Given the description of an element on the screen output the (x, y) to click on. 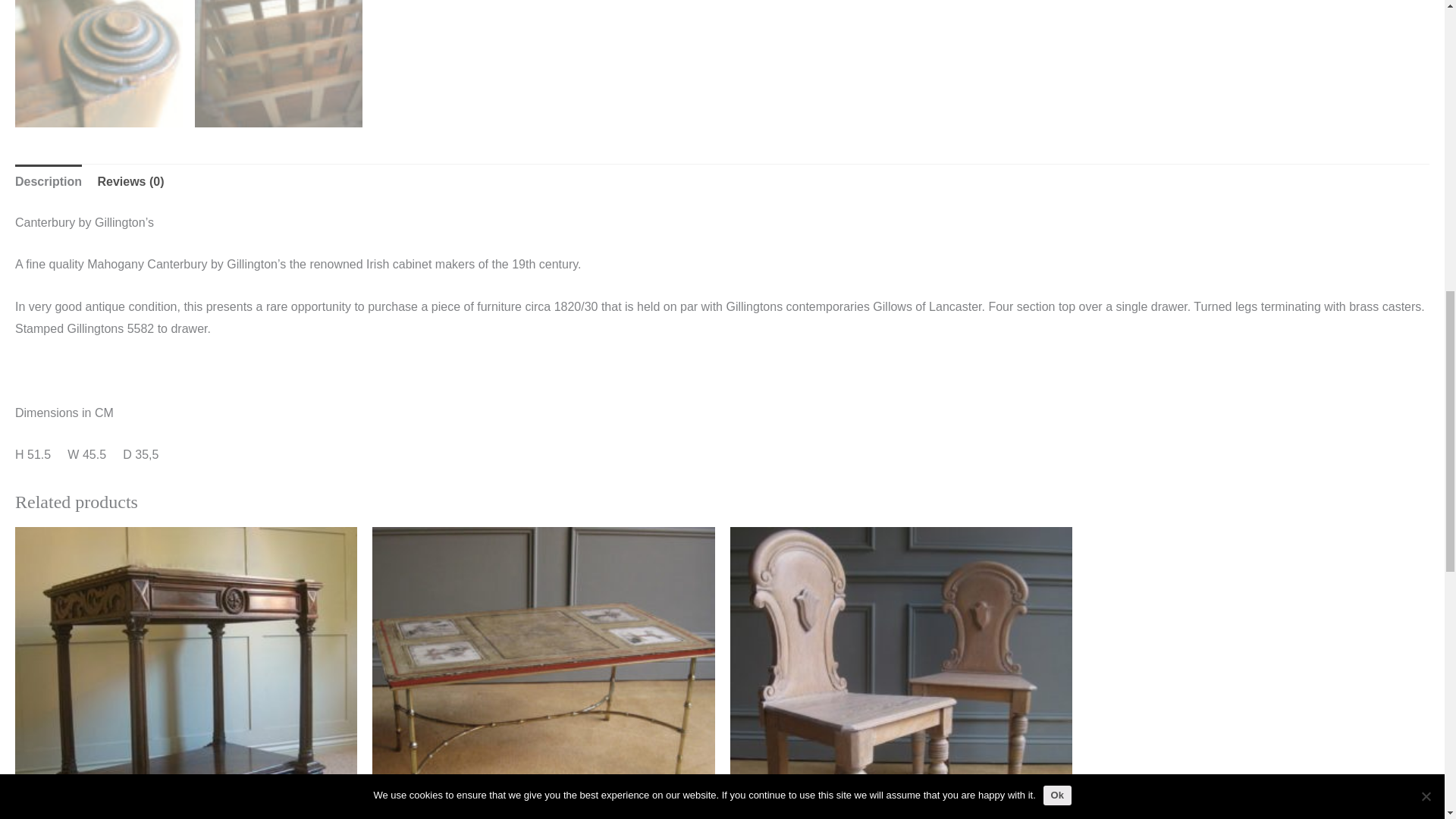
Description (47, 181)
